Given the description of an element on the screen output the (x, y) to click on. 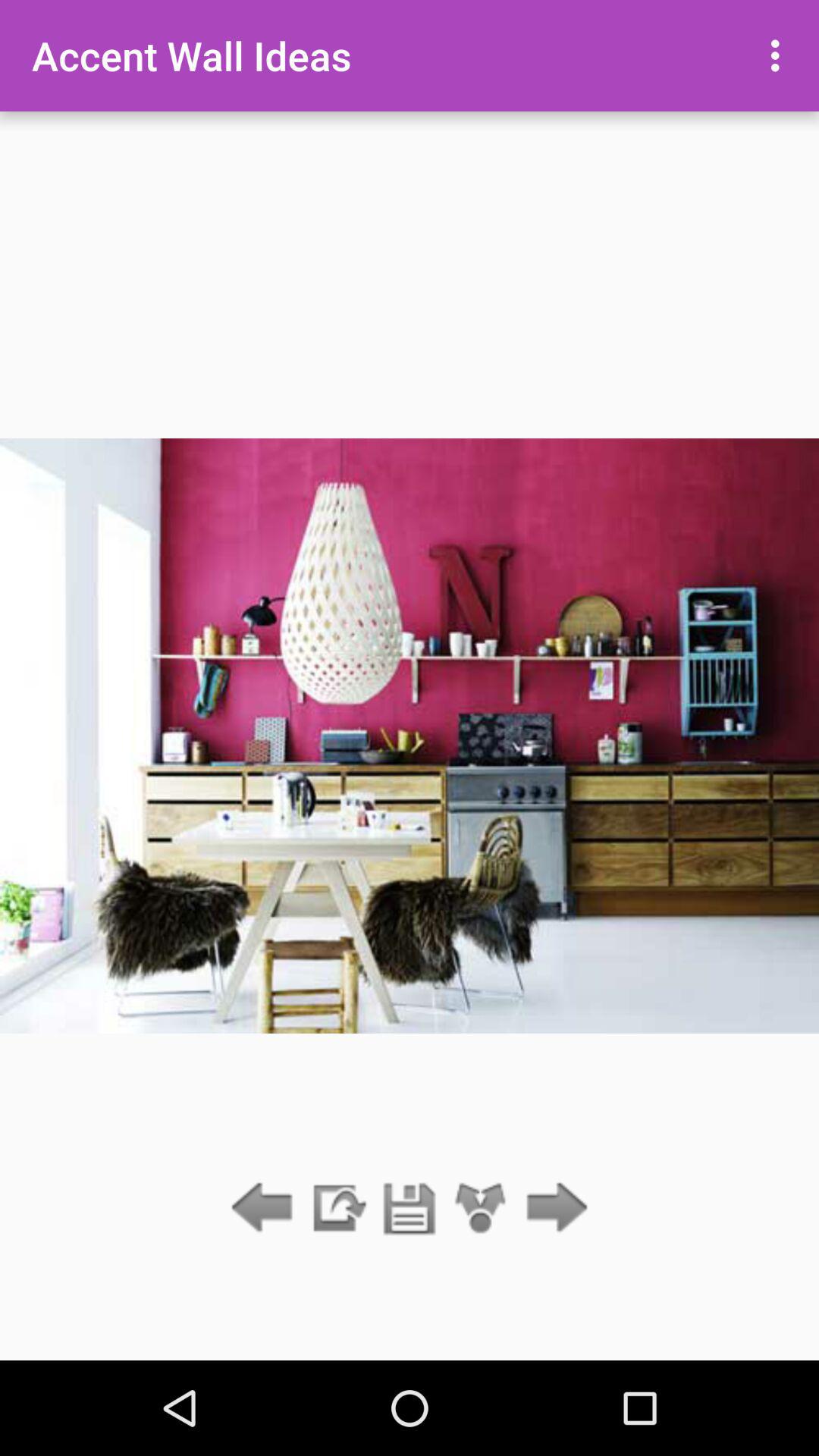
save (409, 1208)
